Given the description of an element on the screen output the (x, y) to click on. 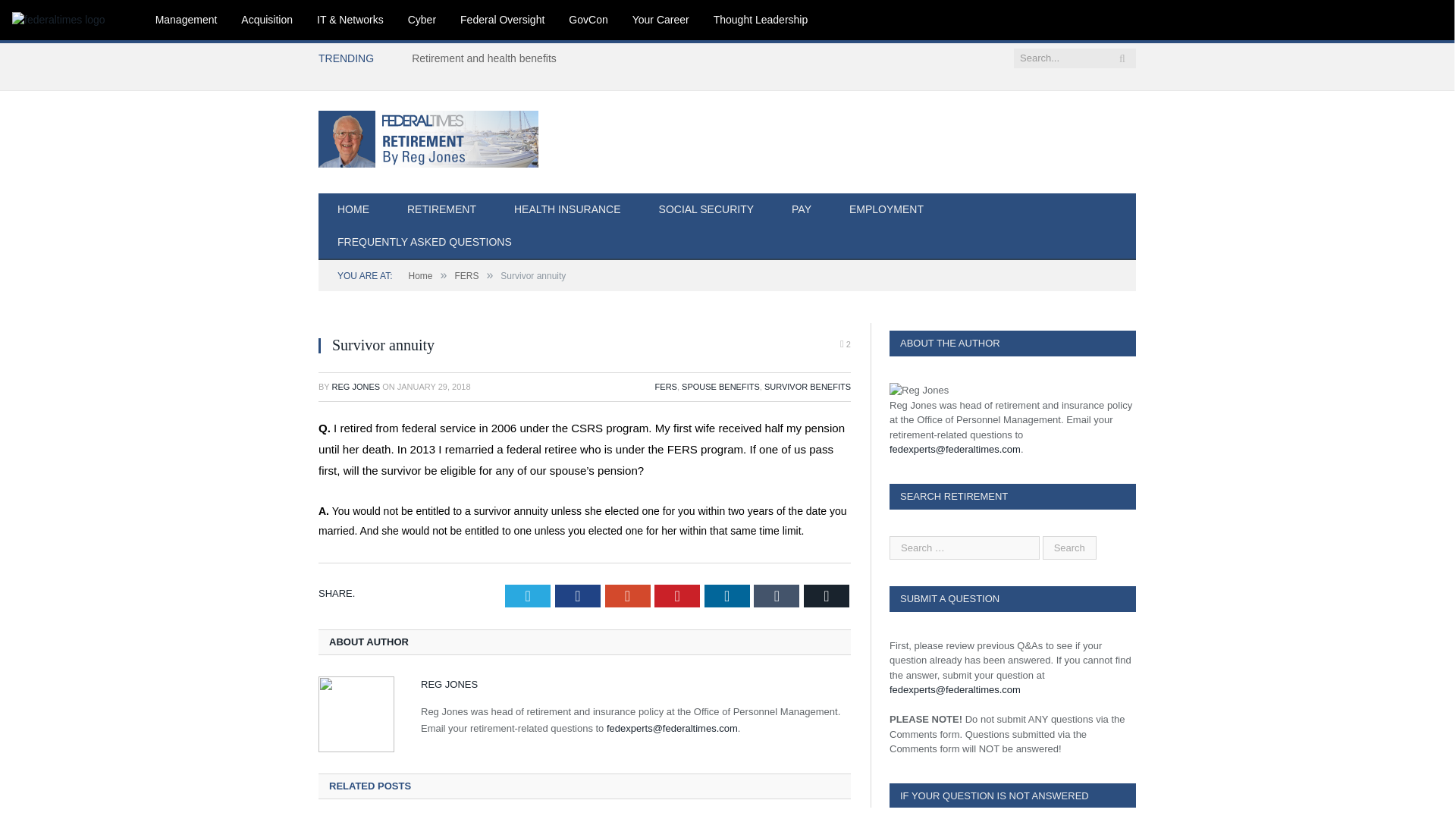
Management (186, 19)
SURVIVOR BENEFITS (807, 386)
SOCIAL SECURITY (706, 210)
PAY (801, 210)
Ask The Experts: Retirement (428, 136)
Home (419, 276)
EMPLOYMENT (885, 210)
Thought Leadership (761, 19)
FREQUENTLY ASKED QUESTIONS (424, 243)
Search (1069, 546)
FERS (666, 386)
Federal Oversight (502, 19)
Facebook (576, 595)
SPOUSE BENEFITS (720, 386)
Search (1069, 546)
